Given the description of an element on the screen output the (x, y) to click on. 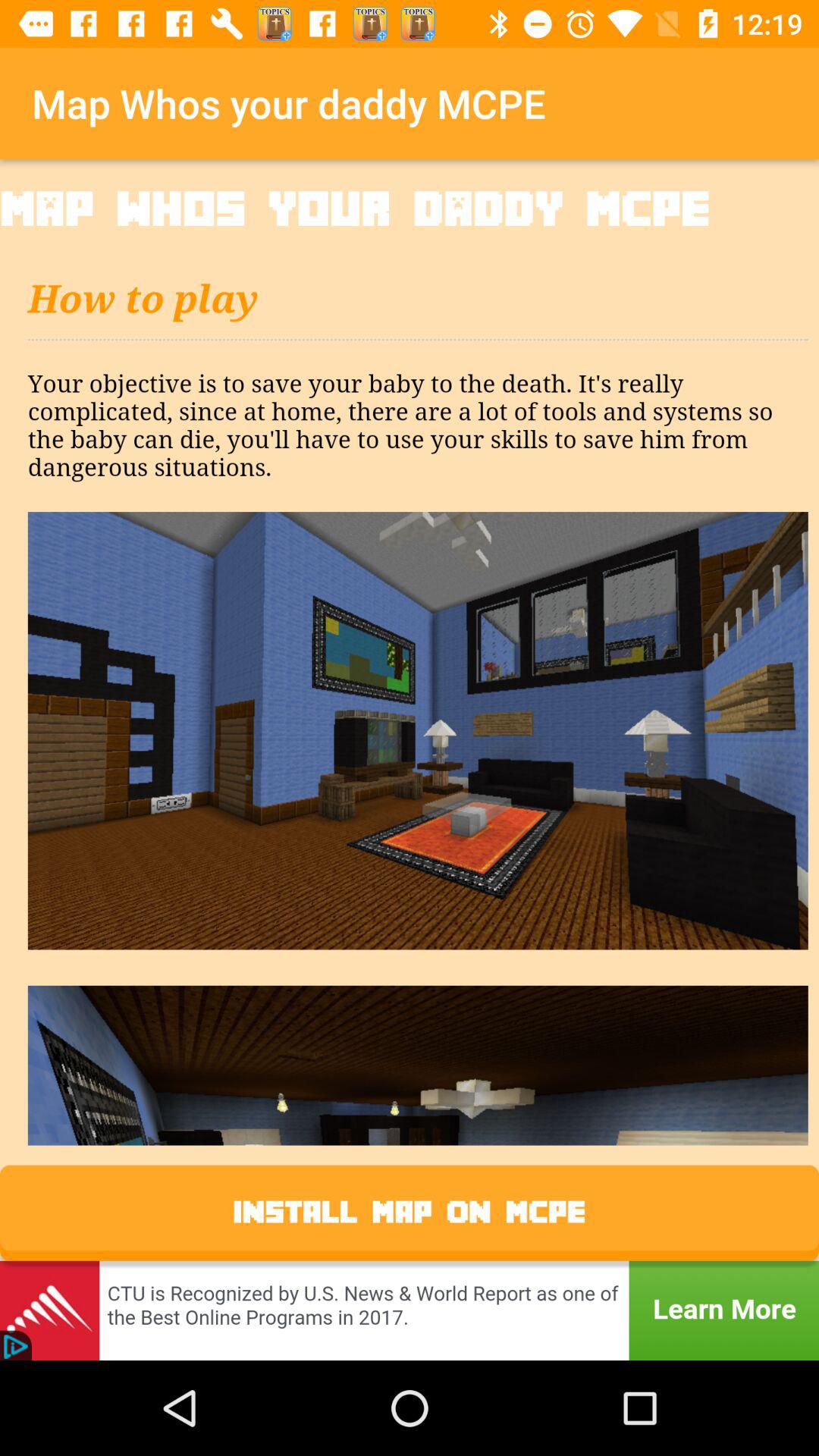
advertisement (409, 1310)
